Given the description of an element on the screen output the (x, y) to click on. 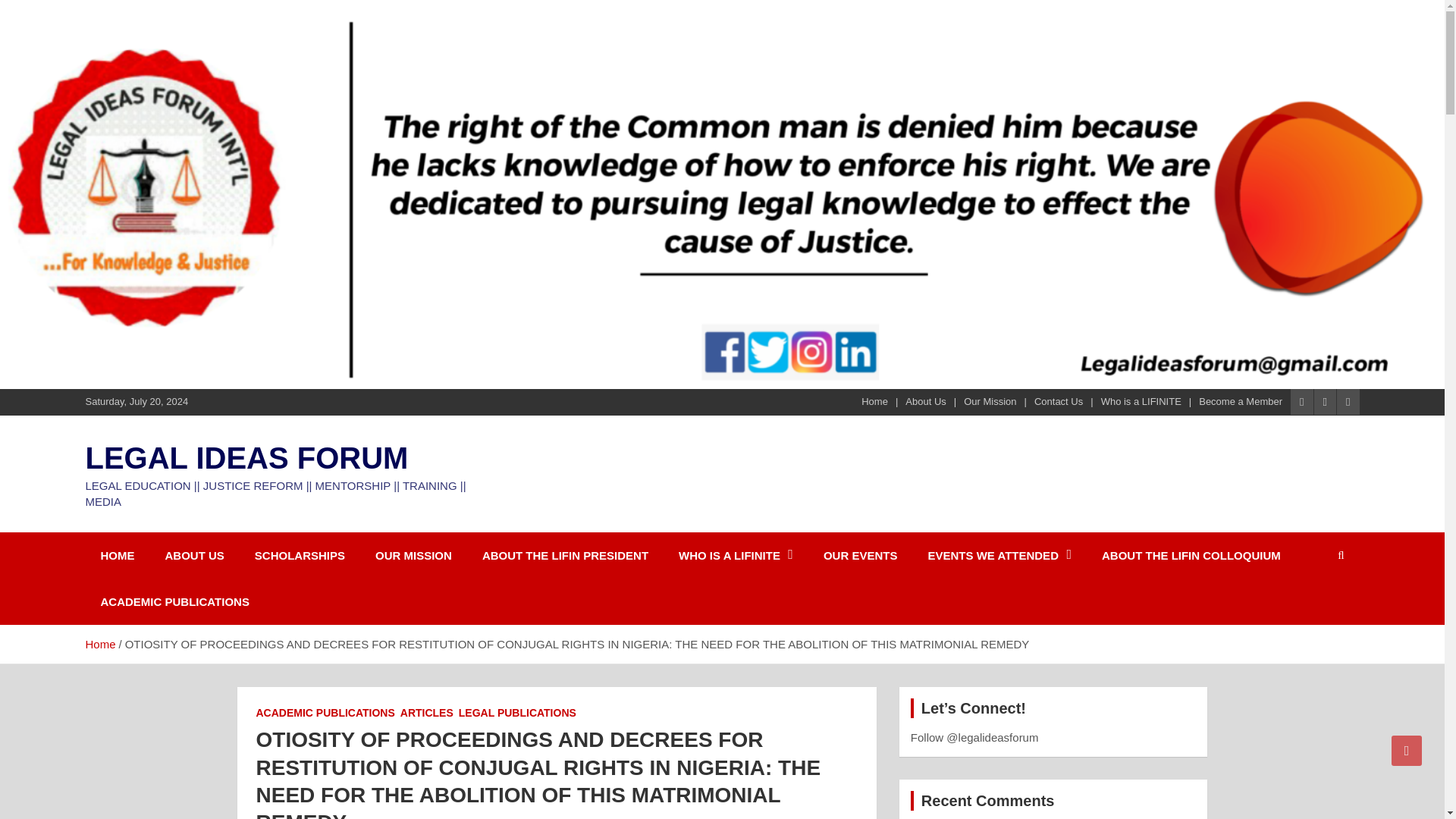
OUR MISSION (413, 555)
Contact Us (1058, 401)
WHO IS A LIFINITE (735, 555)
SCHOLARSHIPS (299, 555)
EVENTS WE ATTENDED (999, 555)
Become a Member (1240, 401)
Home (99, 644)
Go to Top (1406, 750)
ARTICLES (426, 713)
ACADEMIC PUBLICATIONS (173, 601)
About Us (924, 401)
ABOUT US (194, 555)
HOME (116, 555)
ACADEMIC PUBLICATIONS (325, 713)
LEGAL PUBLICATIONS (517, 713)
